Given the description of an element on the screen output the (x, y) to click on. 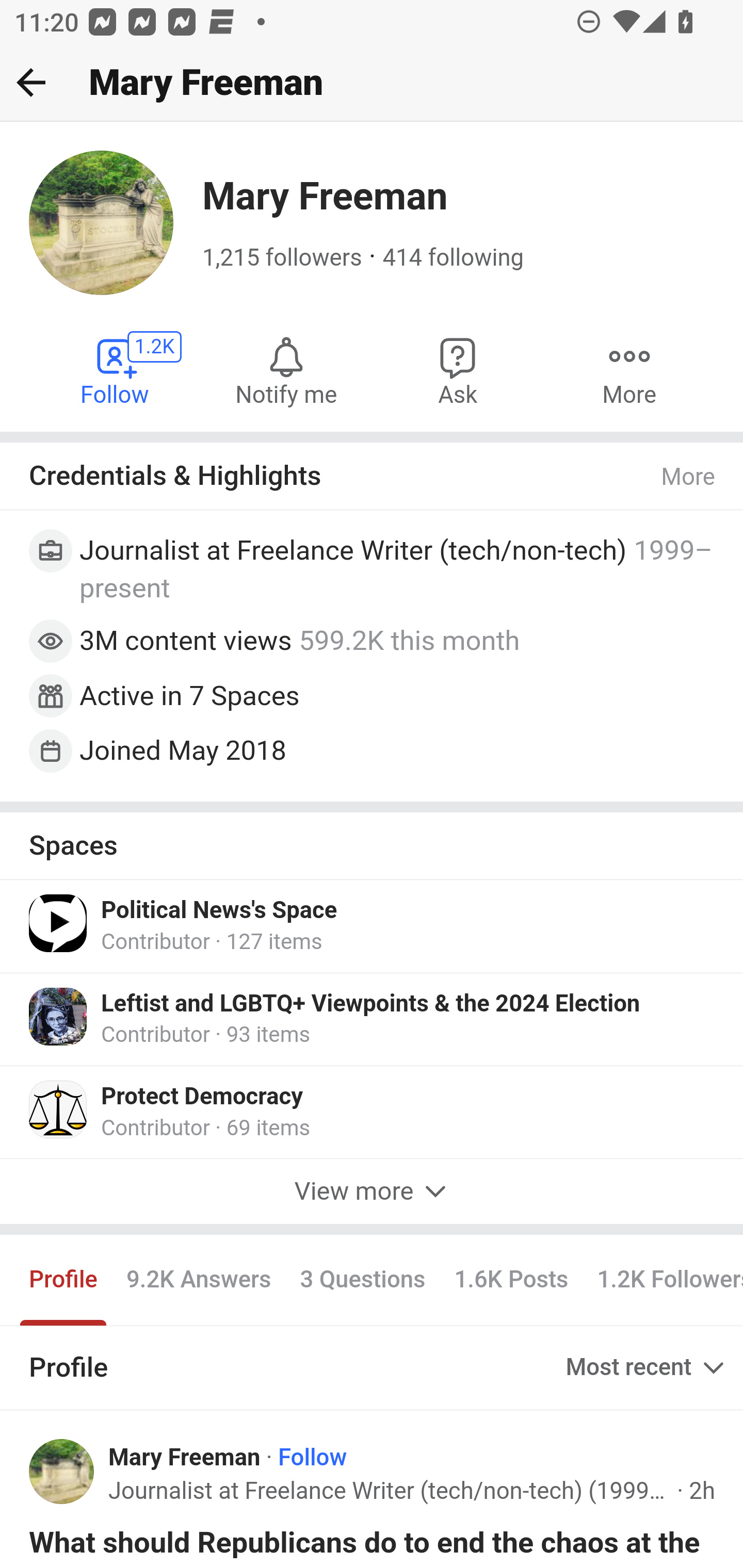
Back (30, 82)
1,215 followers (282, 257)
414 following (452, 257)
Follow Mary Freeman 1.2K Follow (115, 370)
Notify me (285, 370)
Ask (458, 370)
More (628, 370)
More (688, 477)
Icon for Political News's Space (58, 923)
Political News's Space (219, 910)
Leftist and LGBTQ+ Viewpoints & the 2024 Election (370, 1004)
Icon for Protect Democracy (58, 1108)
Protect Democracy (202, 1096)
View more (371, 1190)
Profile (63, 1279)
9.2K Answers (197, 1279)
3 Questions (362, 1279)
1.6K Posts (510, 1279)
1.2K Followers (662, 1279)
Most recent (647, 1367)
Profile photo for Mary Freeman (61, 1471)
Mary Freeman (184, 1457)
Follow (312, 1457)
